Given the description of an element on the screen output the (x, y) to click on. 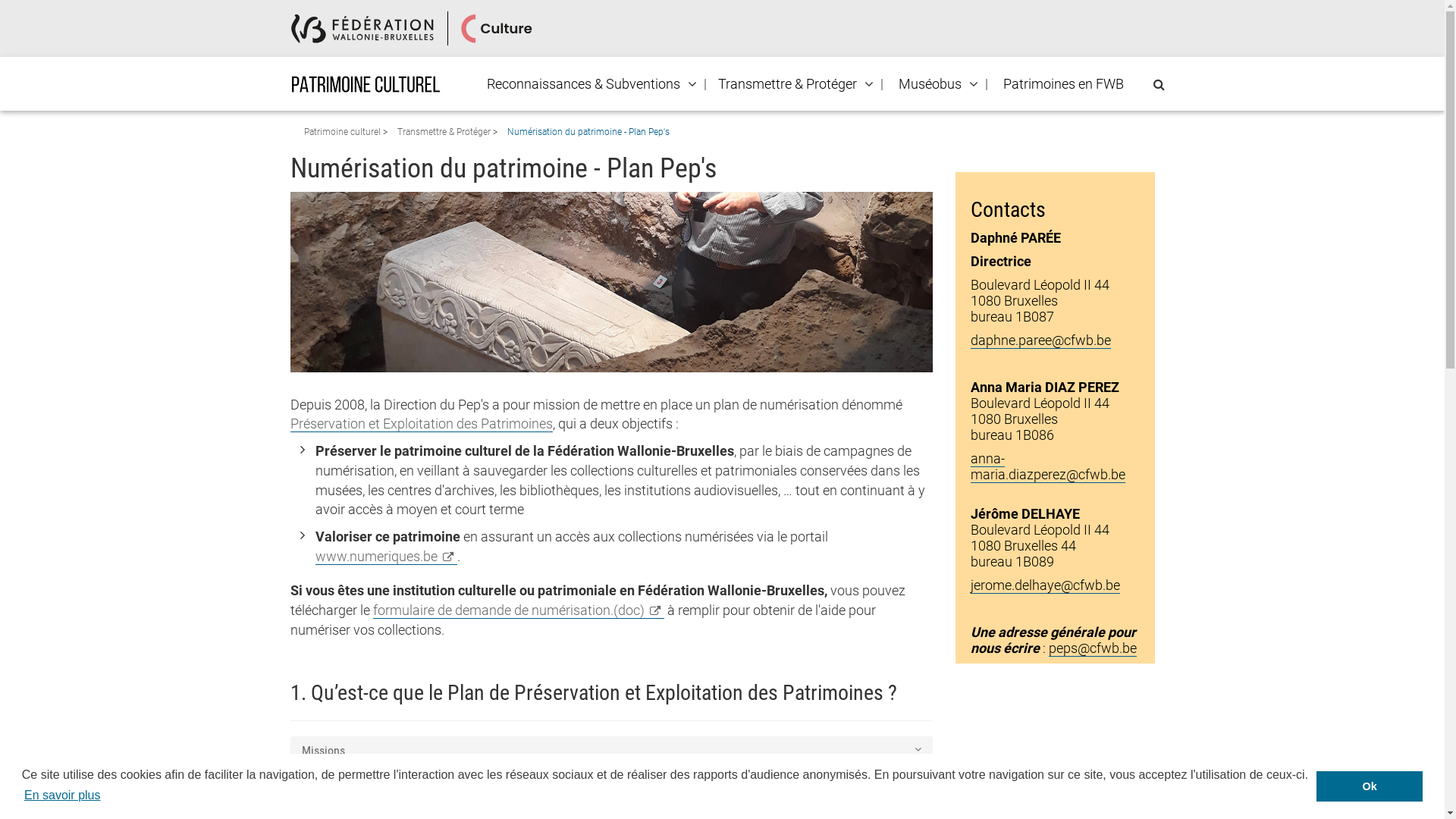
La Direction du Peps en chiffres Element type: text (610, 782)
Patrimoines en FWB Element type: text (1063, 84)
Rechercher sur le site Element type: text (1158, 84)
Recherche Element type: text (5, 11)
Missions Element type: text (610, 750)
peps@cfwb.be Element type: text (1092, 648)
daphne.paree@cfwb.be Element type: text (1040, 340)
Patrimoine culturel Element type: text (342, 131)
Reconnaissances & Subventions Element type: text (582, 84)
jerome.delhaye@cfwb.be Element type: text (1045, 585)
Ok Element type: text (1369, 786)
En savoir plus Element type: text (62, 795)
anna-maria.diazperez@cfwb.be Element type: text (1047, 466)
